Given the description of an element on the screen output the (x, y) to click on. 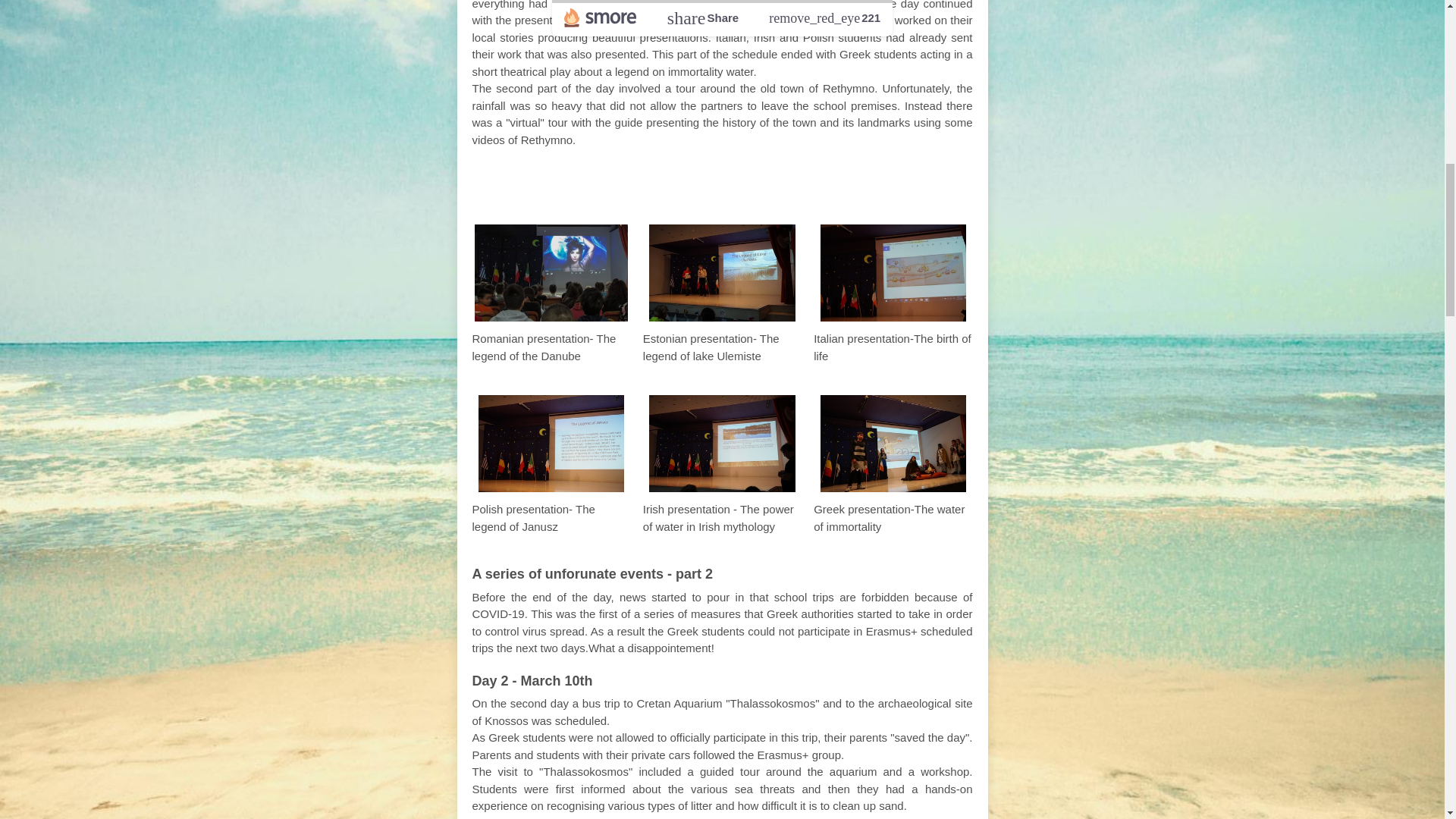
presentations (722, 181)
